Given the description of an element on the screen output the (x, y) to click on. 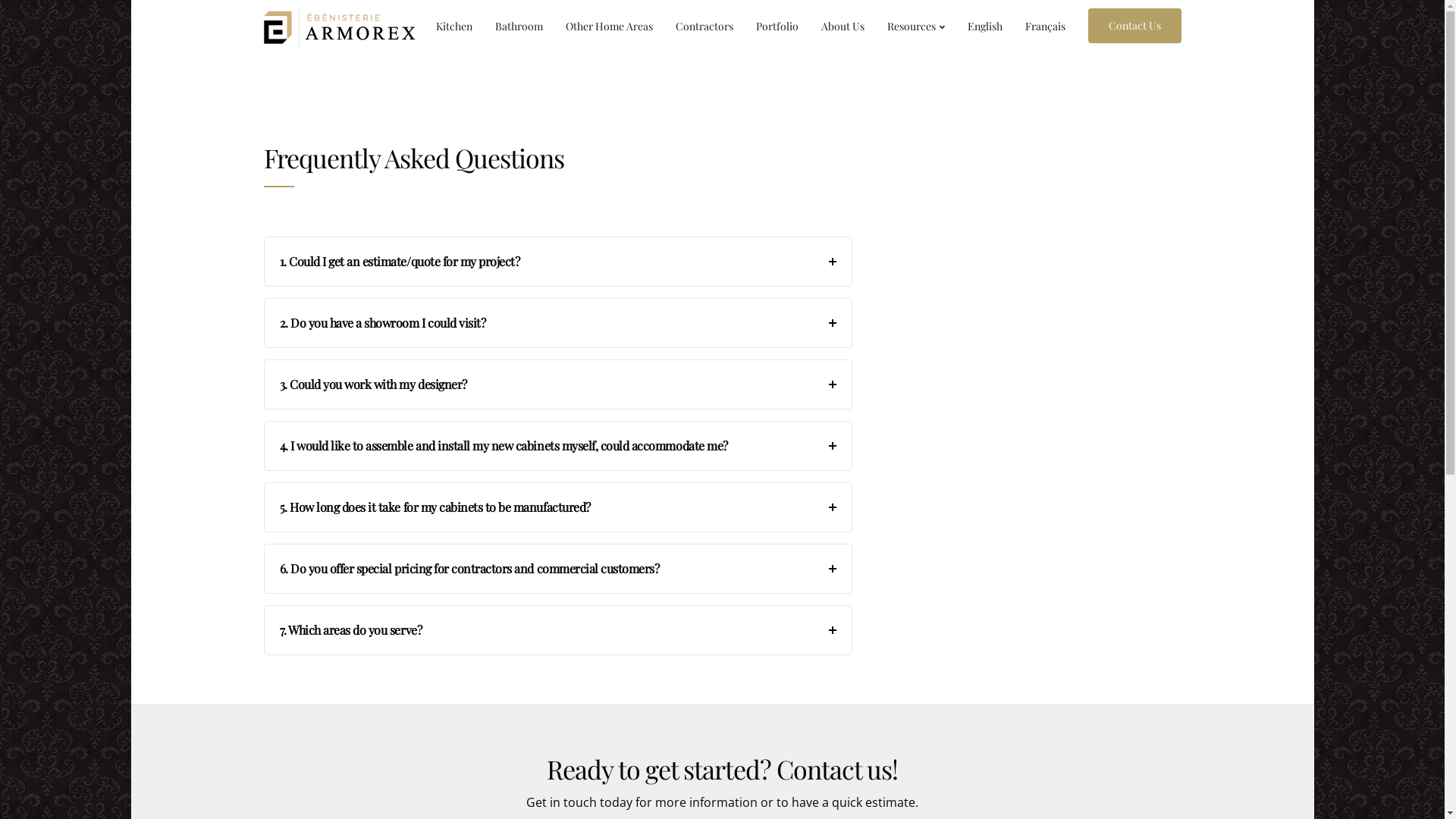
Other Home Areas Element type: text (608, 25)
Contractors Element type: text (704, 25)
Contact Us Element type: text (1133, 25)
English Element type: text (984, 25)
Portfolio Element type: text (776, 25)
Kitchen Element type: text (453, 25)
Bathroom Element type: text (518, 25)
Resources Element type: text (915, 25)
About Us Element type: text (842, 25)
